Given the description of an element on the screen output the (x, y) to click on. 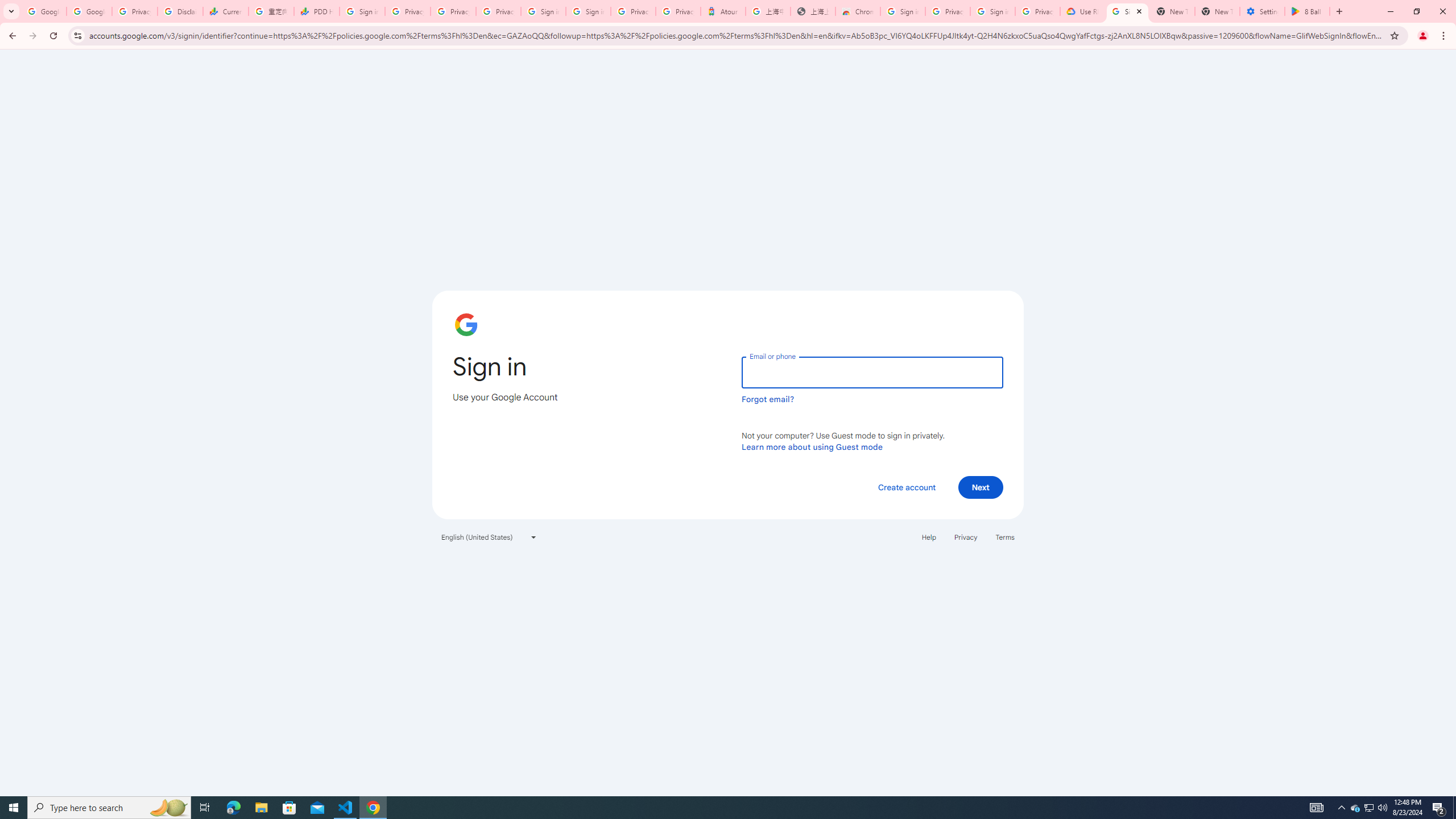
8 Ball Pool - Apps on Google Play (1307, 11)
Sign in - Google Accounts (362, 11)
Sign in - Google Accounts (542, 11)
Sign in - Google Accounts (902, 11)
Currencies - Google Finance (225, 11)
Settings - System (1262, 11)
